Given the description of an element on the screen output the (x, y) to click on. 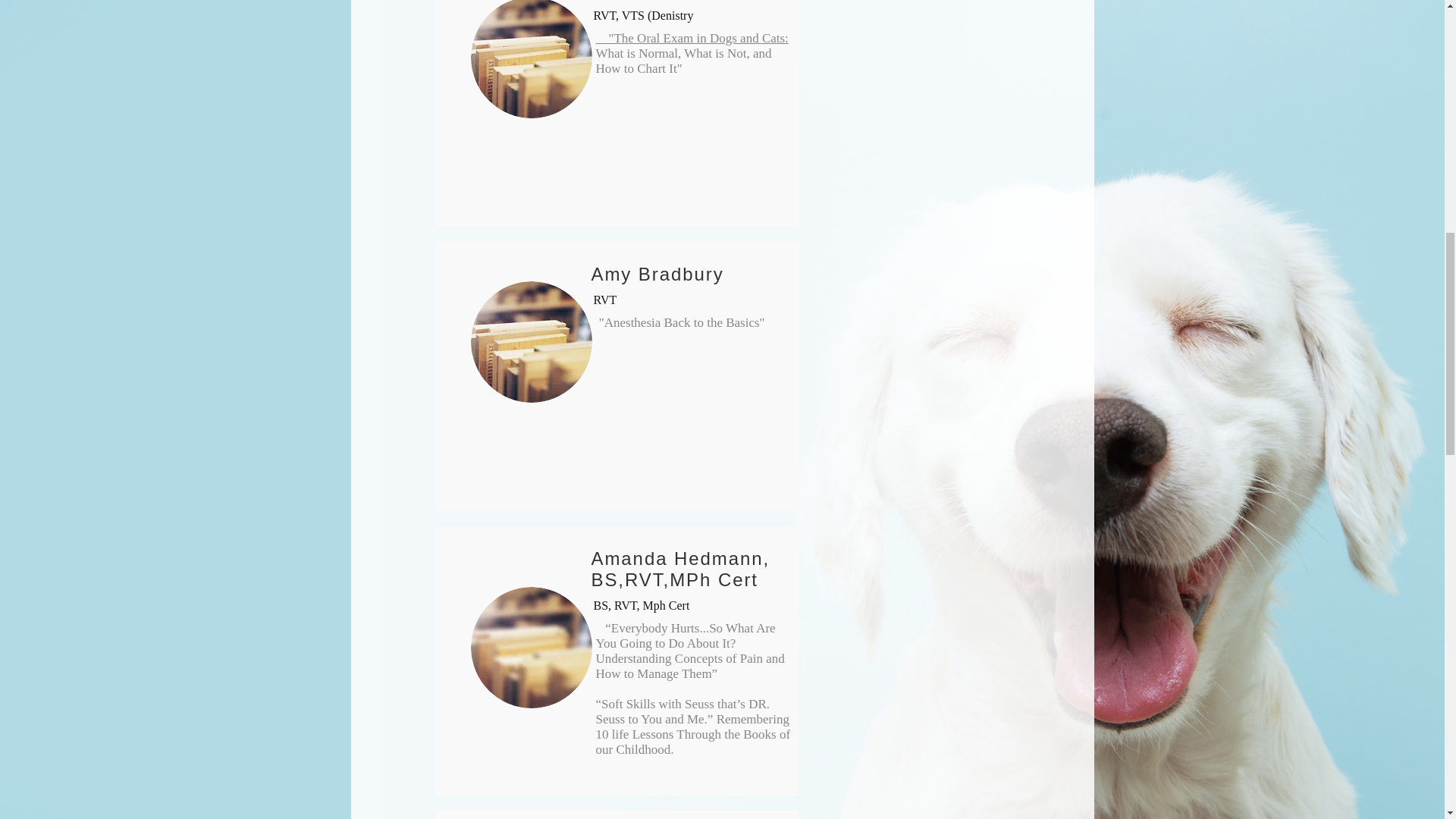
    "The Oral Exam in Dogs and Cats: (692, 38)
